Given the description of an element on the screen output the (x, y) to click on. 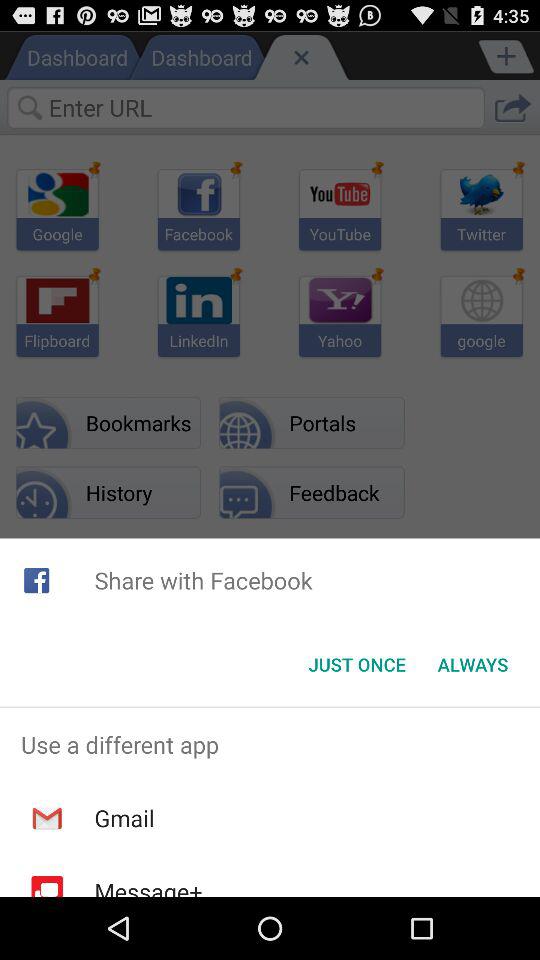
click the gmail app (124, 817)
